Given the description of an element on the screen output the (x, y) to click on. 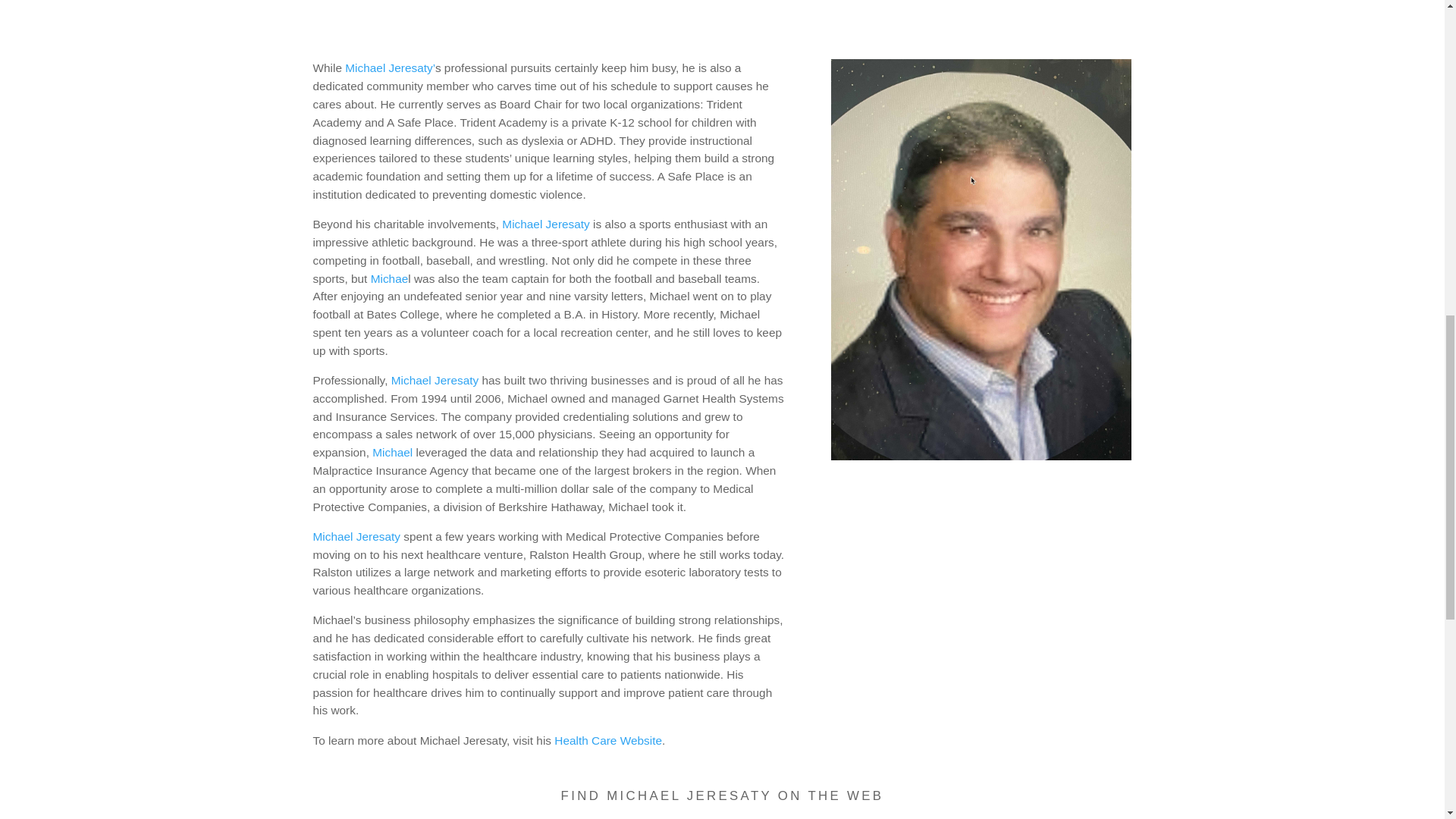
Health Care Website (608, 739)
Michae (390, 278)
Michael Jeresaty (545, 223)
Michael Jeresaty (435, 379)
Michael (392, 451)
Michael Jeresaty (355, 535)
